Given the description of an element on the screen output the (x, y) to click on. 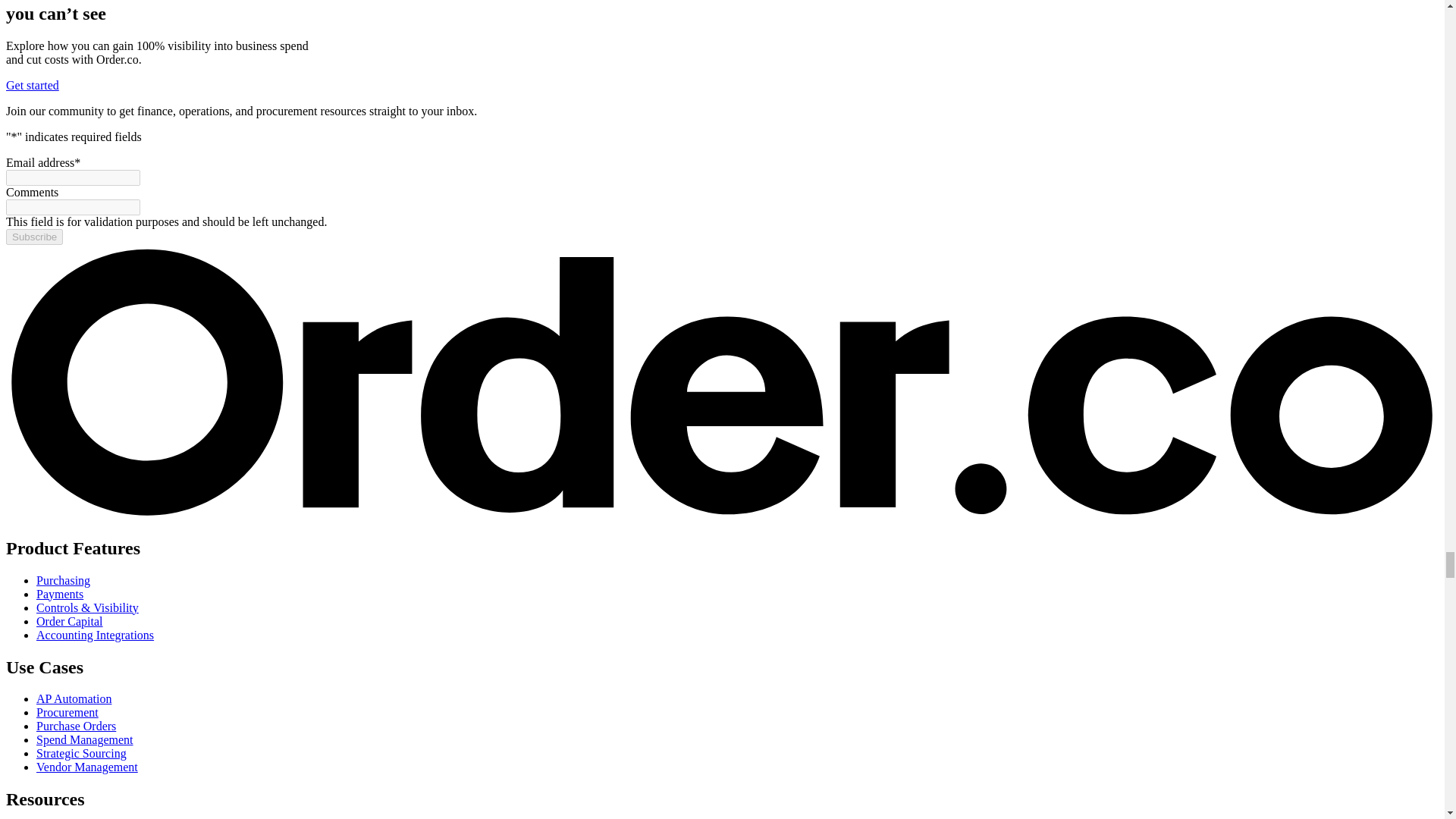
Subscribe (33, 236)
